Given the description of an element on the screen output the (x, y) to click on. 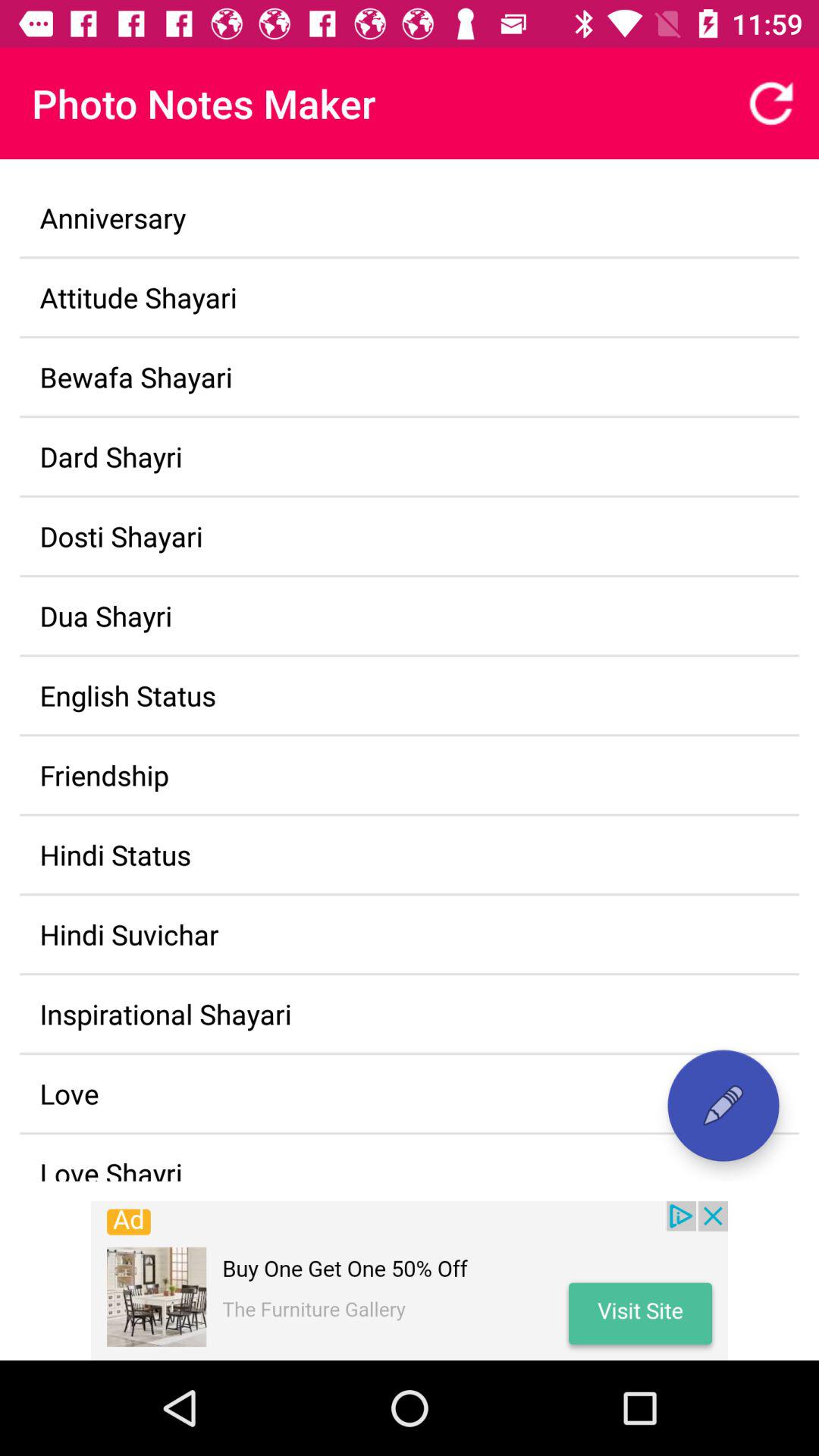
advertisement (409, 1280)
